Given the description of an element on the screen output the (x, y) to click on. 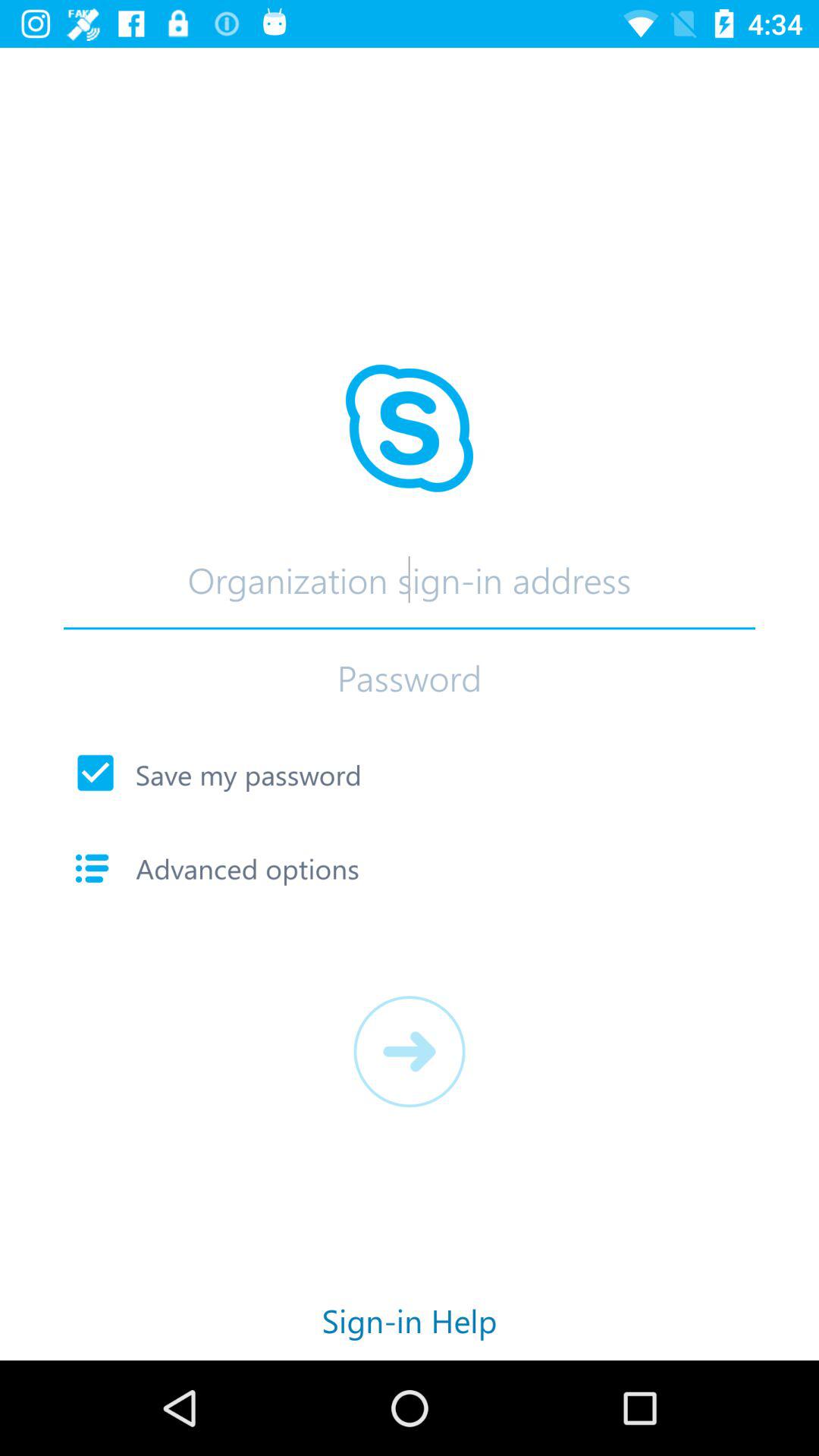
click item to the left of save my password app (95, 772)
